Given the description of an element on the screen output the (x, y) to click on. 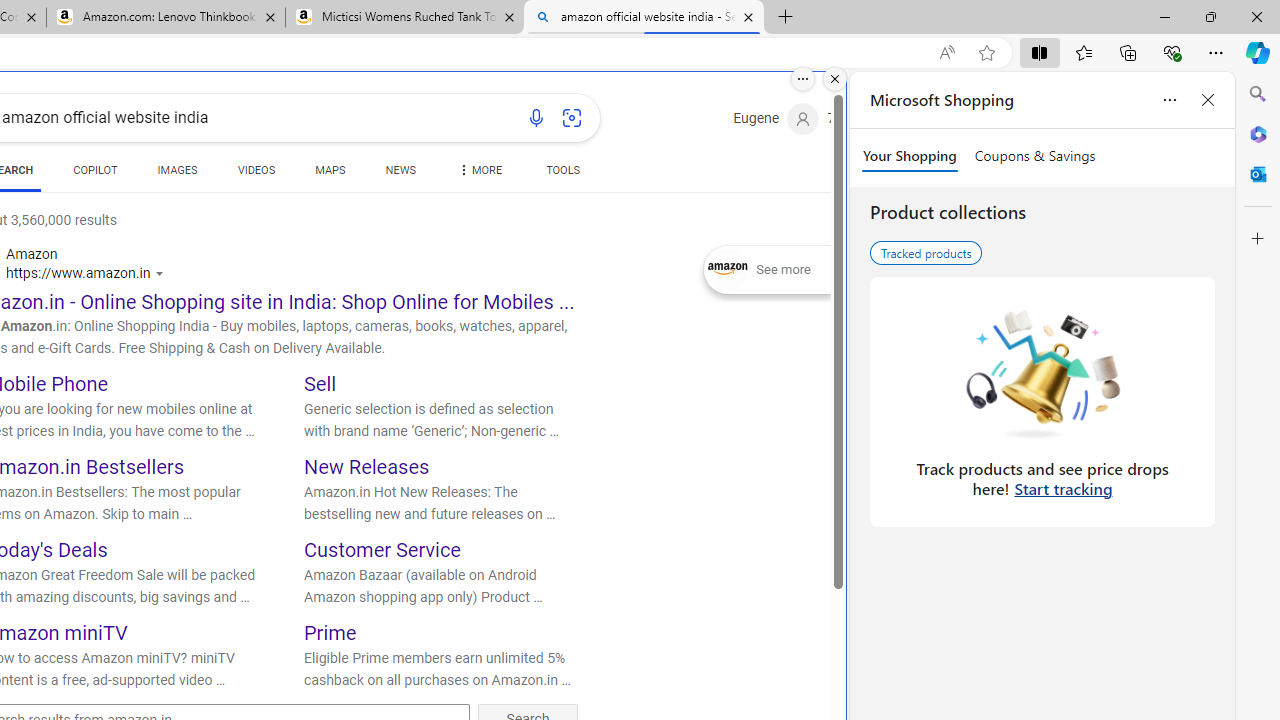
Expand (727, 269)
TOOLS (562, 173)
